Given the description of an element on the screen output the (x, y) to click on. 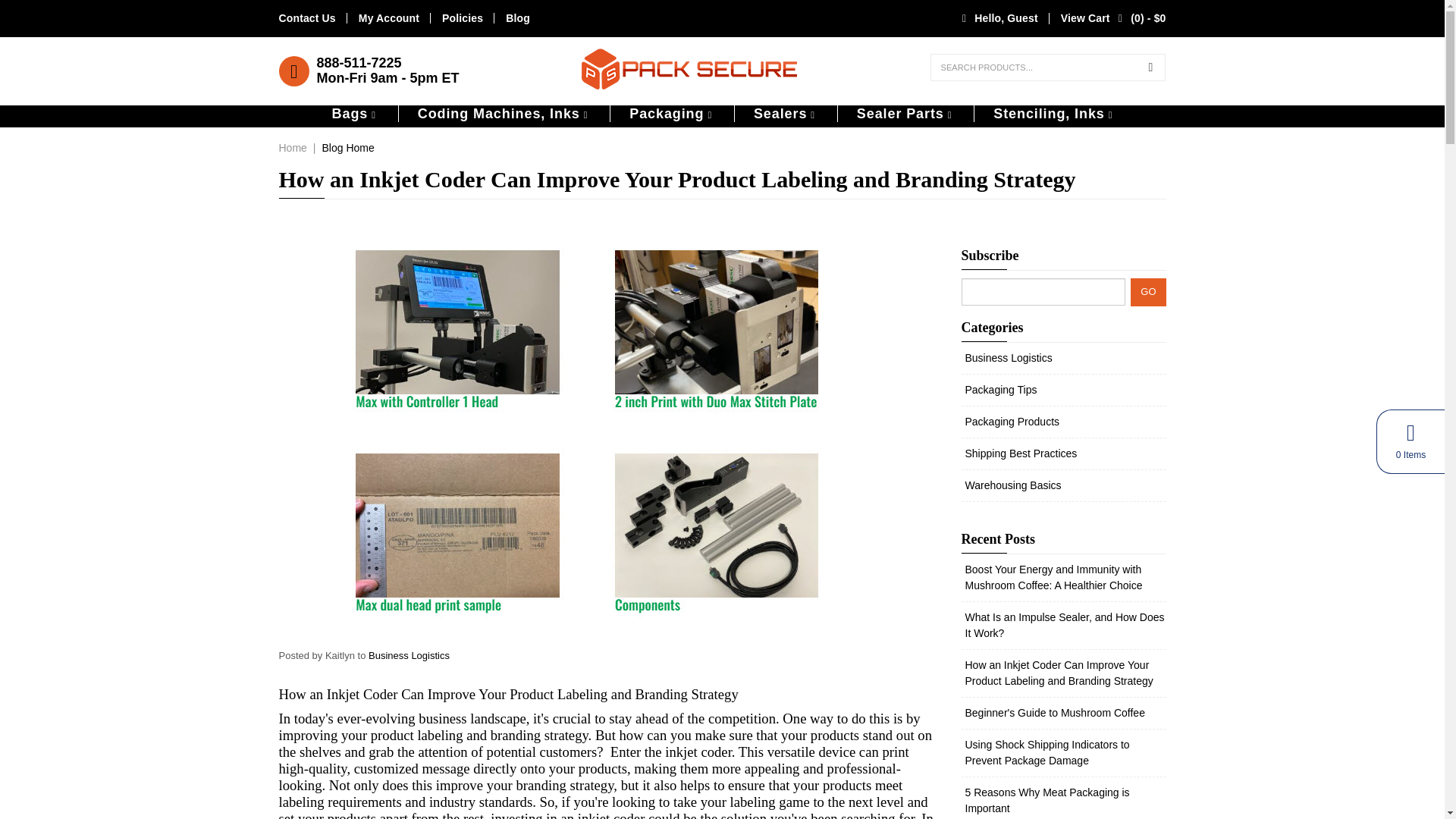
Contact Us (307, 18)
Hello, Guest (997, 18)
Blog (517, 18)
0 Items (1410, 441)
Packaging (670, 113)
My Account (388, 18)
Policies (462, 18)
Pack Secure (688, 61)
Coding Machines, Inks (502, 113)
Bags (353, 113)
